Given the description of an element on the screen output the (x, y) to click on. 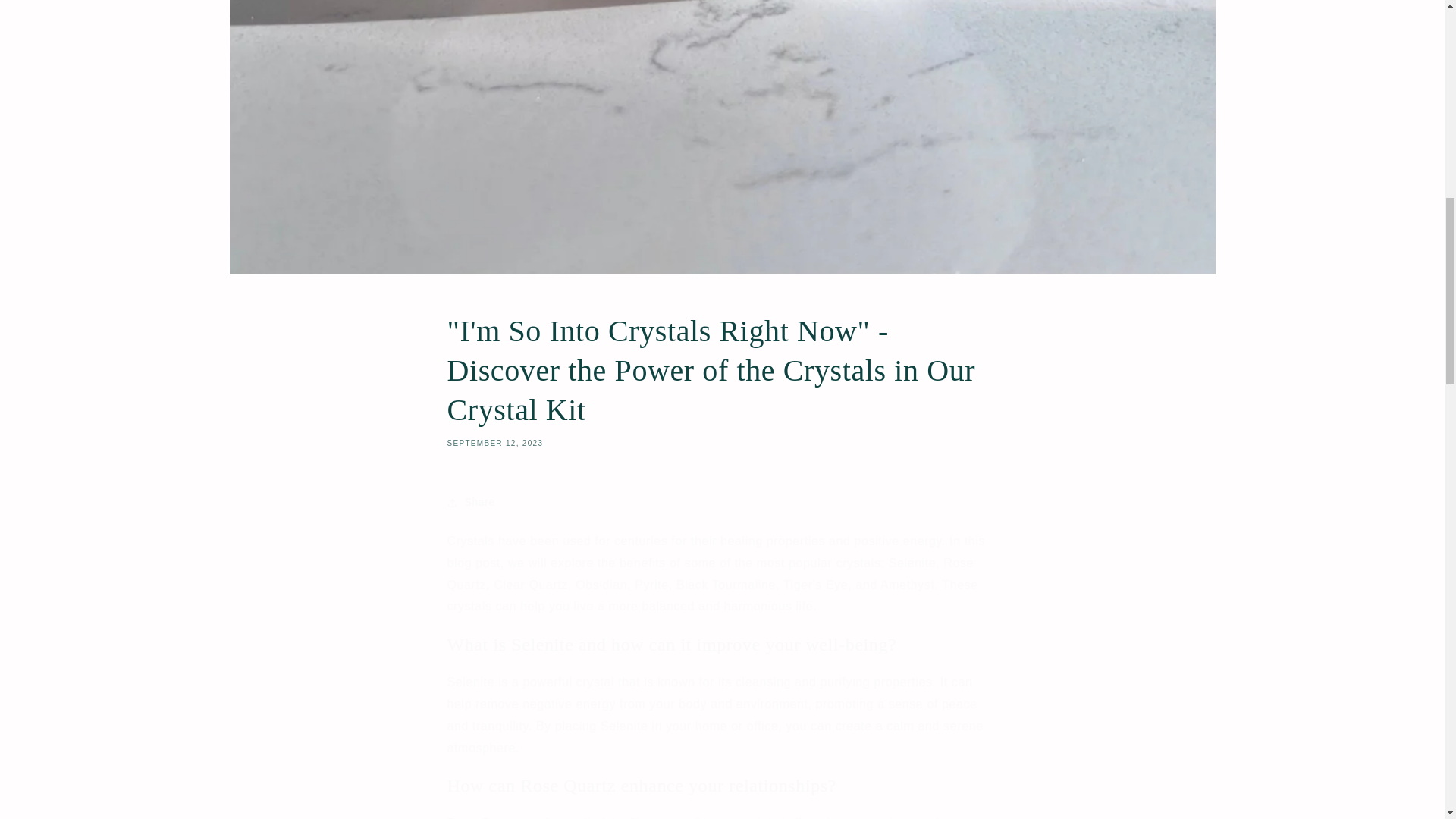
Share (721, 502)
